Given the description of an element on the screen output the (x, y) to click on. 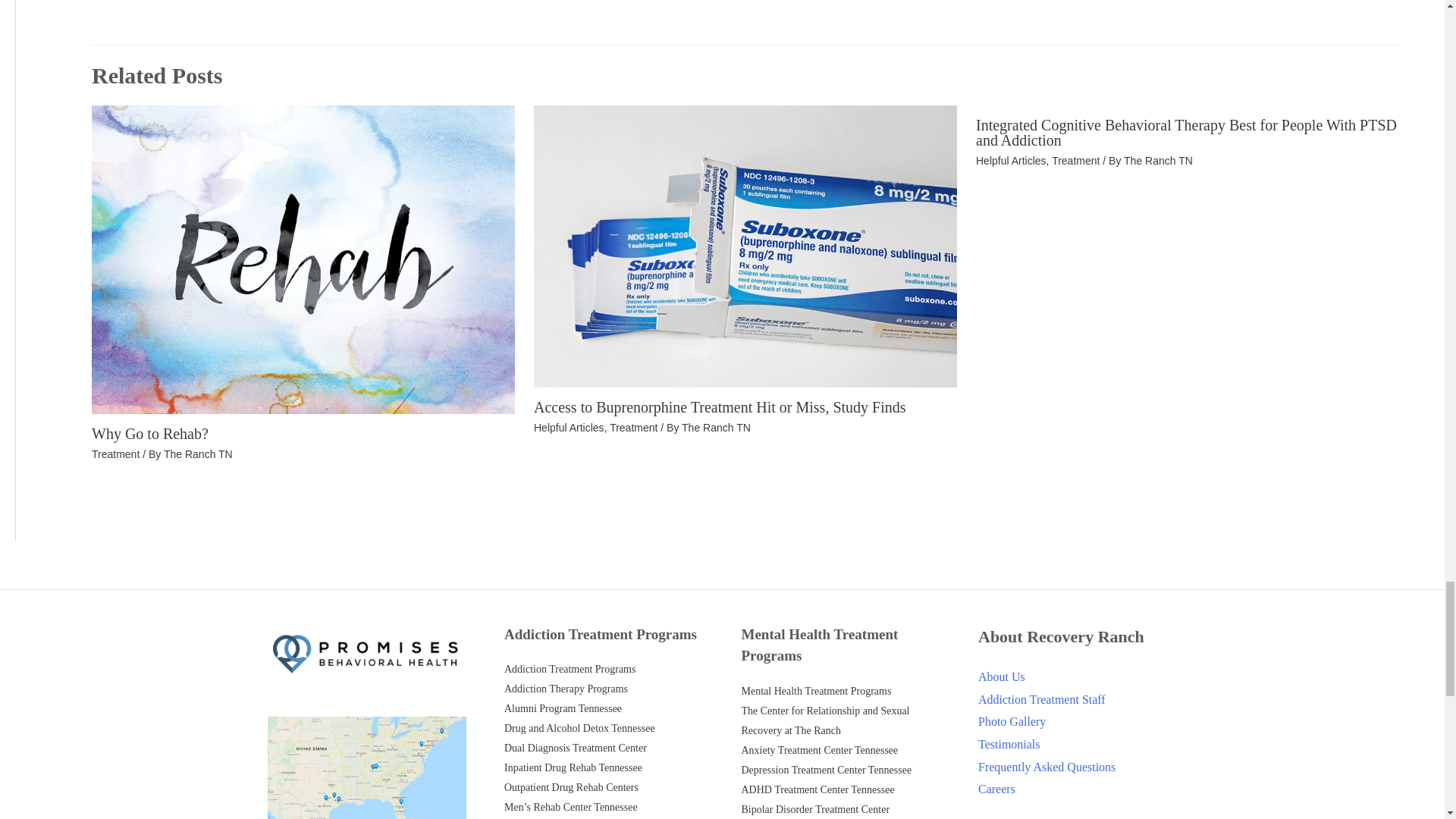
View all posts by The Ranch TN (716, 427)
View all posts by The Ranch TN (1158, 160)
View all posts by The Ranch TN (197, 453)
